Given the description of an element on the screen output the (x, y) to click on. 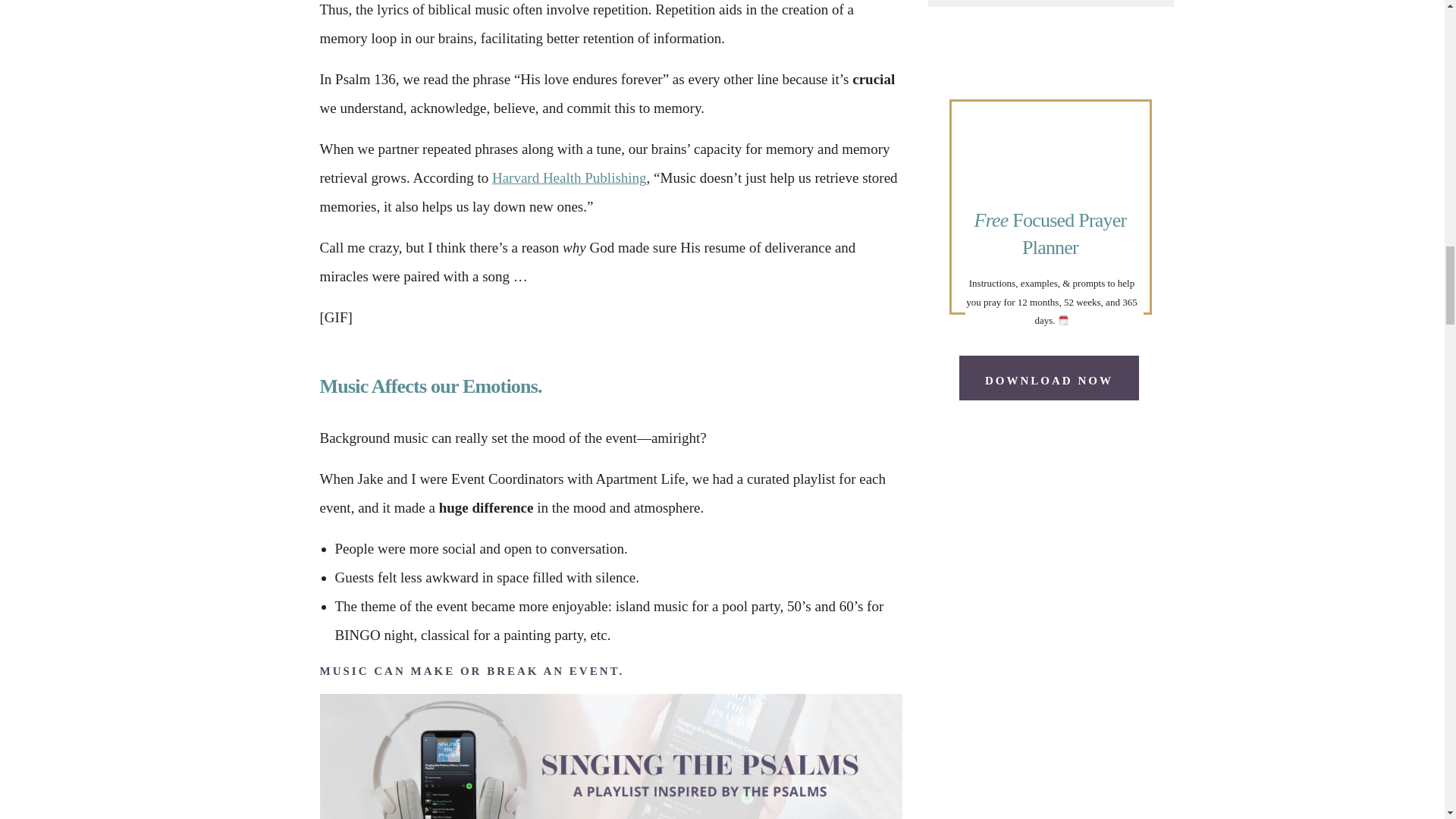
DOWNLOAD NOW (1047, 377)
